Given the description of an element on the screen output the (x, y) to click on. 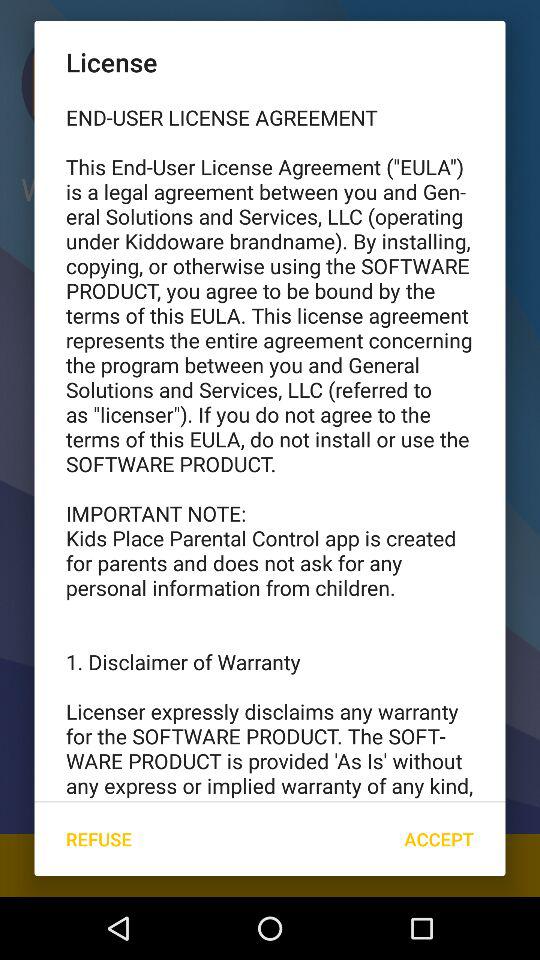
tap the refuse at the bottom left corner (98, 838)
